Given the description of an element on the screen output the (x, y) to click on. 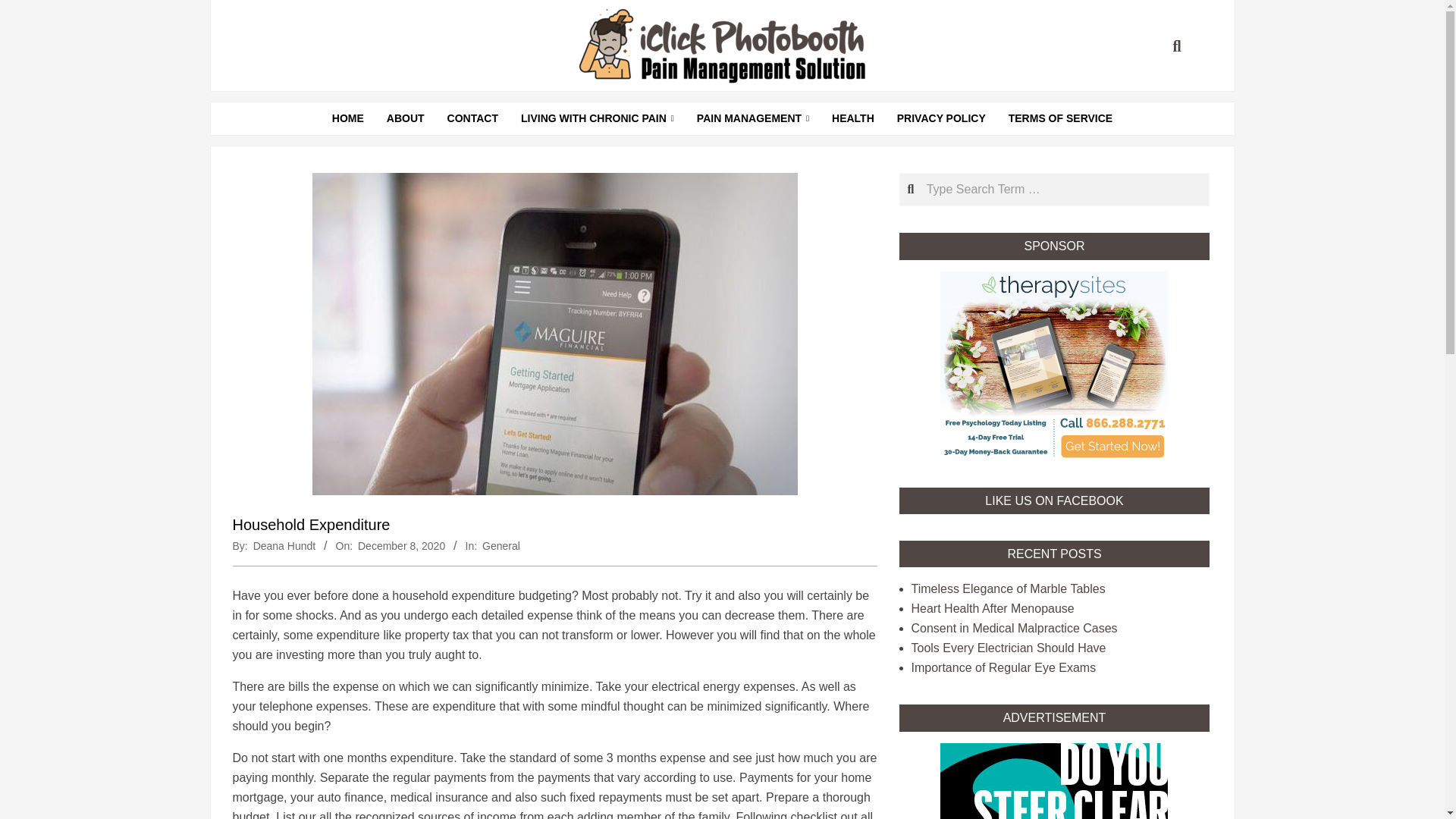
HOME (347, 118)
CONTACT (472, 118)
Timeless Elegance of Marble Tables (1008, 588)
PAIN MANAGEMENT (753, 118)
Tuesday, December 8, 2020, 9:08 am (401, 545)
PRIVACY POLICY (941, 118)
Tools Every Electrician Should Have (1008, 647)
TERMS OF SERVICE (1060, 118)
HEALTH (853, 118)
Search (26, 9)
Importance of Regular Eye Exams (1003, 667)
Posts by Deana Hundt (284, 545)
Heart Health After Menopause (992, 608)
LIVING WITH CHRONIC PAIN (597, 118)
General (500, 545)
